Given the description of an element on the screen output the (x, y) to click on. 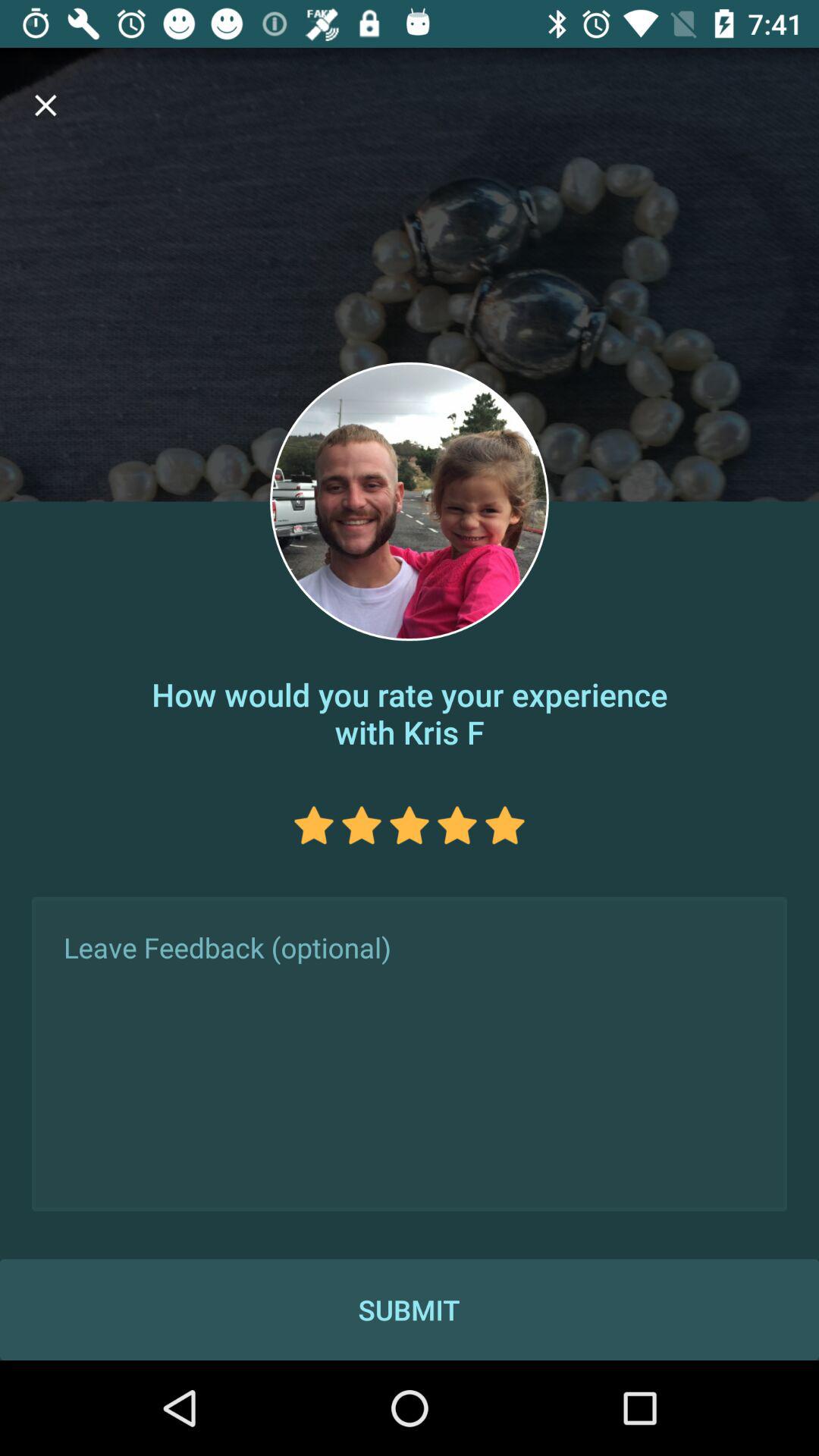
add star rating (409, 825)
